Given the description of an element on the screen output the (x, y) to click on. 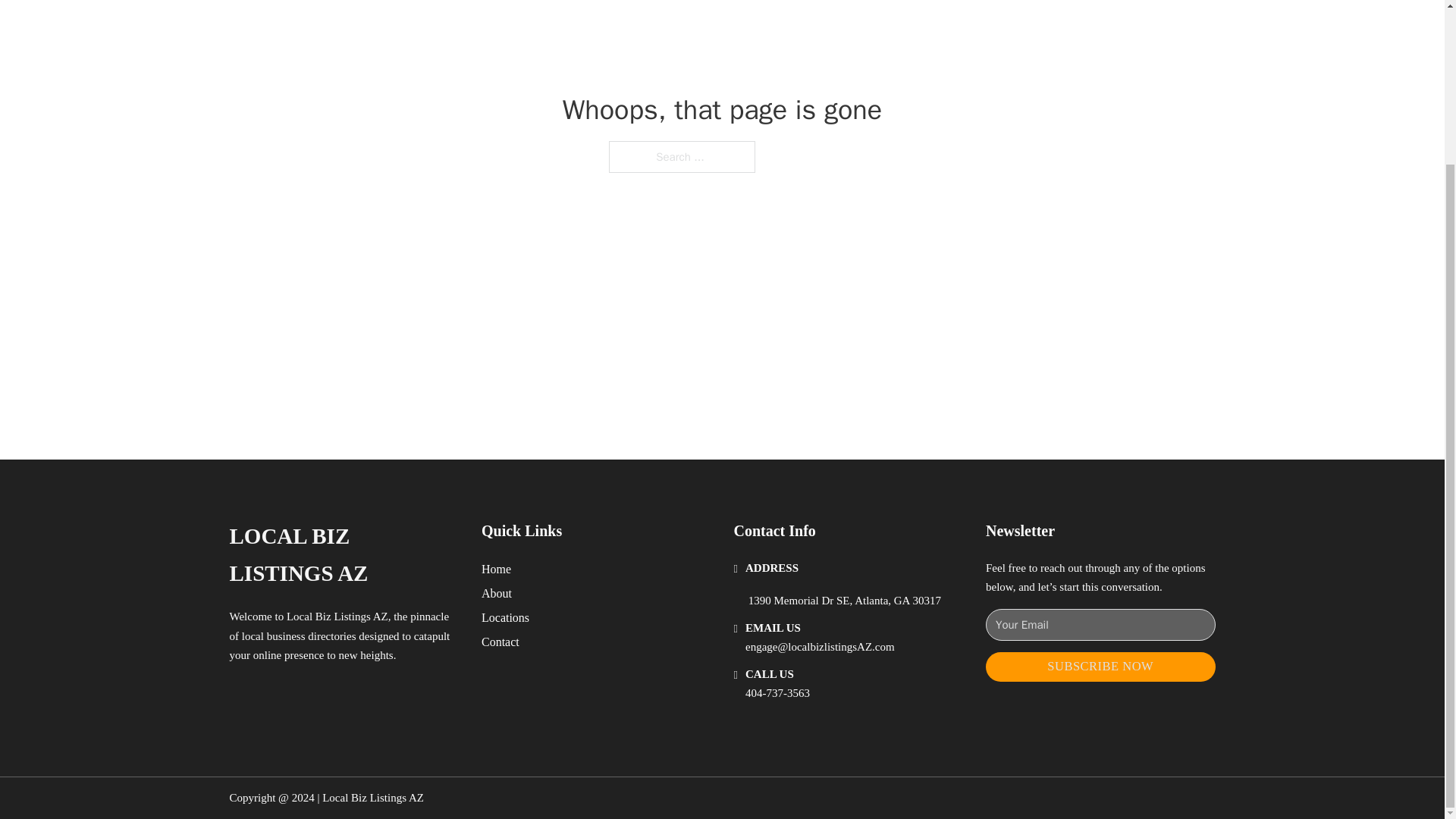
About (496, 593)
Home (496, 568)
Contact (500, 641)
Locations (505, 617)
404-737-3563 (777, 693)
SUBSCRIBE NOW (1100, 666)
LOCAL BIZ LISTINGS AZ (343, 554)
